Given the description of an element on the screen output the (x, y) to click on. 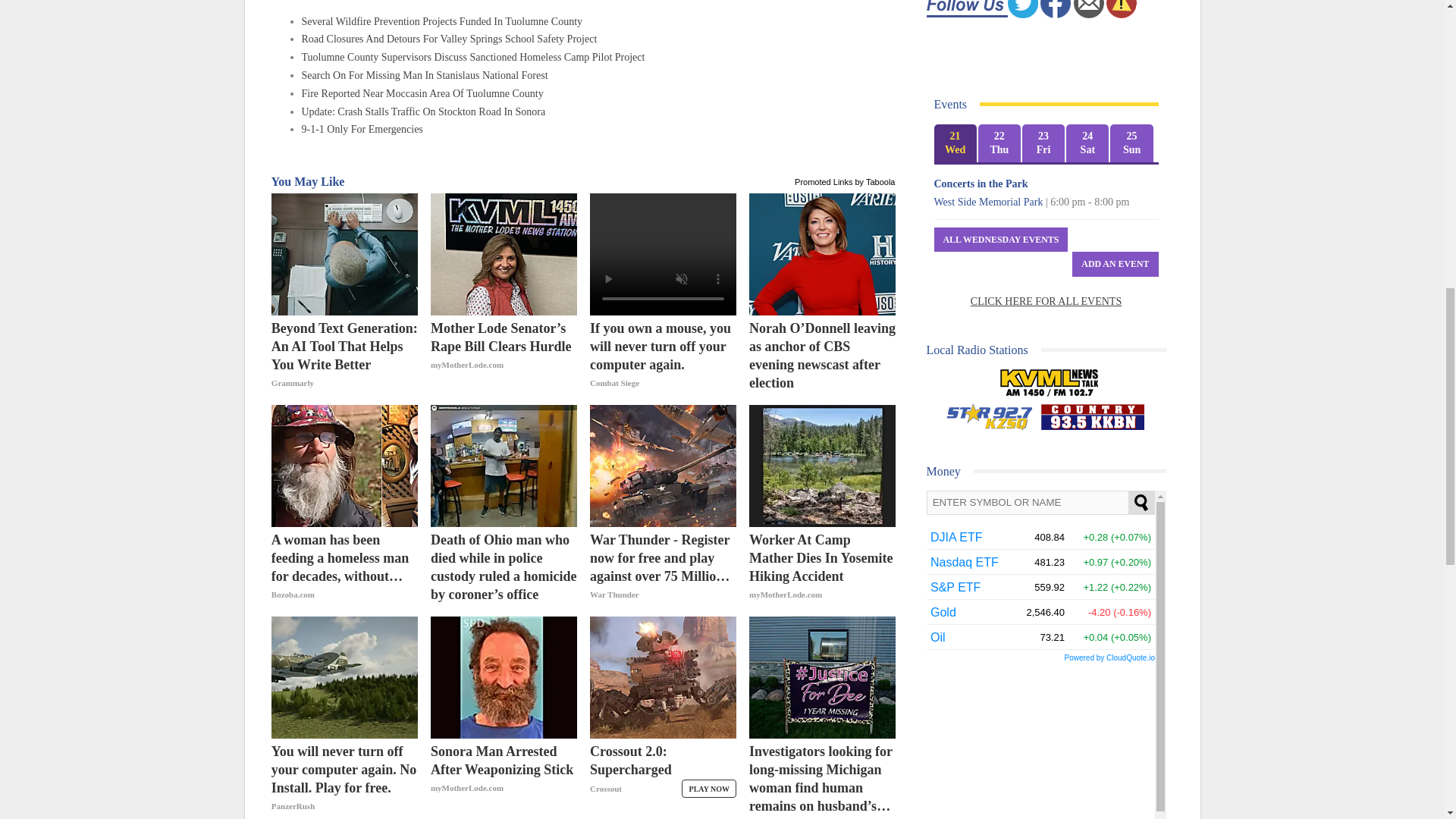
Add An Event (1114, 263)
All Wednesday Events (1001, 239)
